Given the description of an element on the screen output the (x, y) to click on. 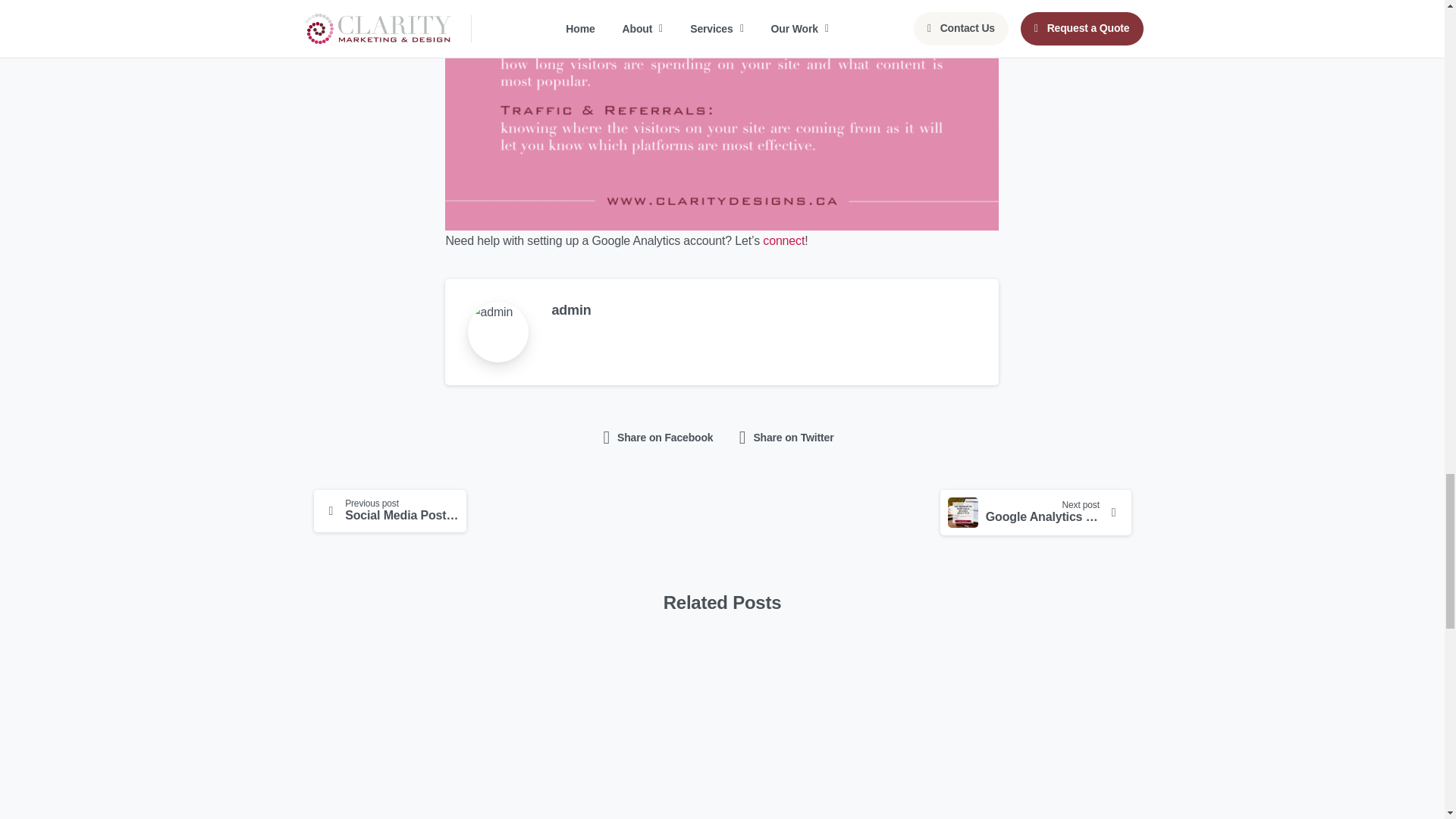
admin (1035, 511)
Share on Facebook (763, 310)
connect (657, 438)
Share on Twitter (783, 240)
